Given the description of an element on the screen output the (x, y) to click on. 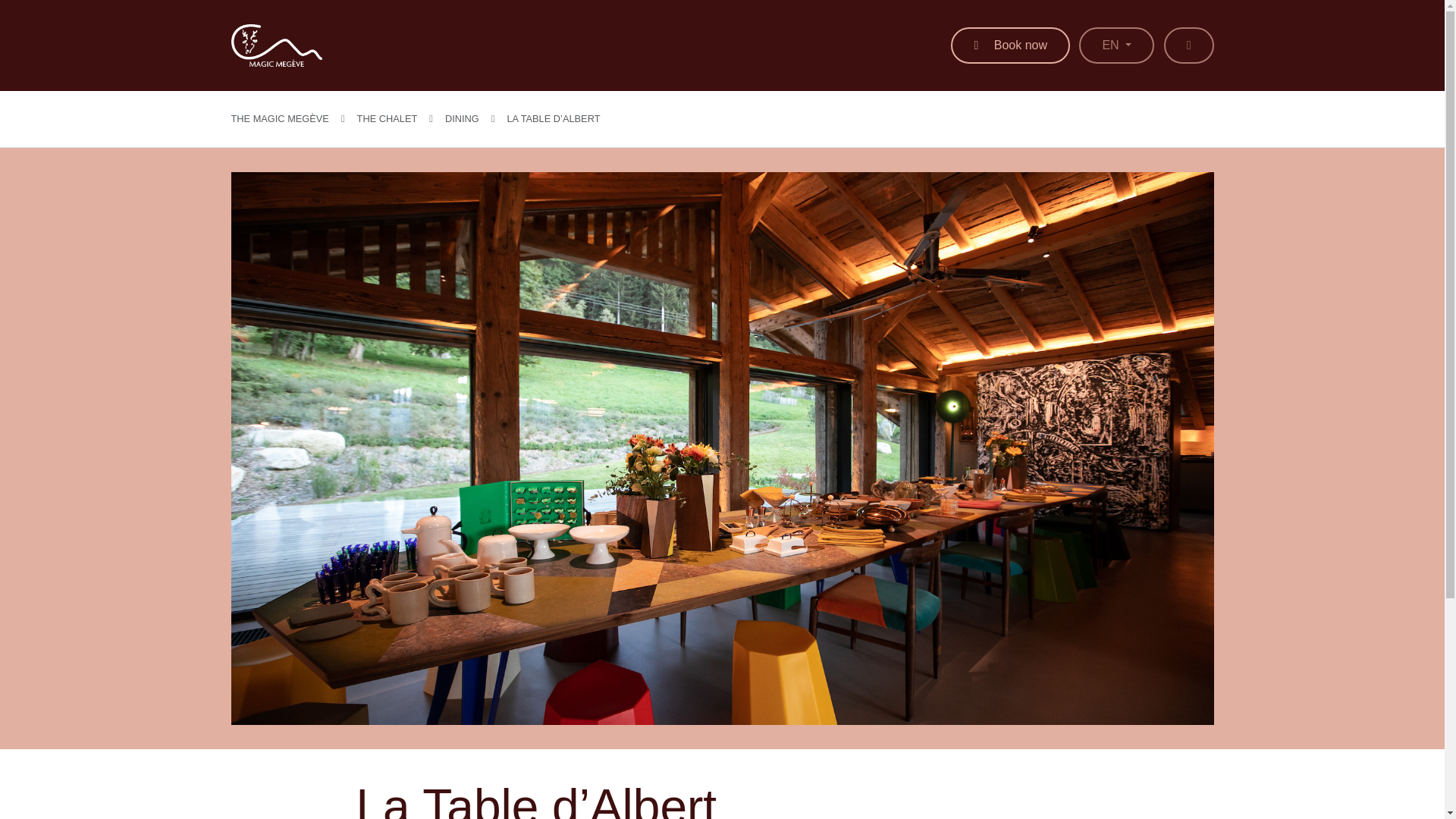
DINING (462, 118)
EN (1116, 45)
THE CHALET (386, 118)
Go to The Chalet. (386, 118)
Go to Dining. (462, 118)
Book now (1010, 45)
